Given the description of an element on the screen output the (x, y) to click on. 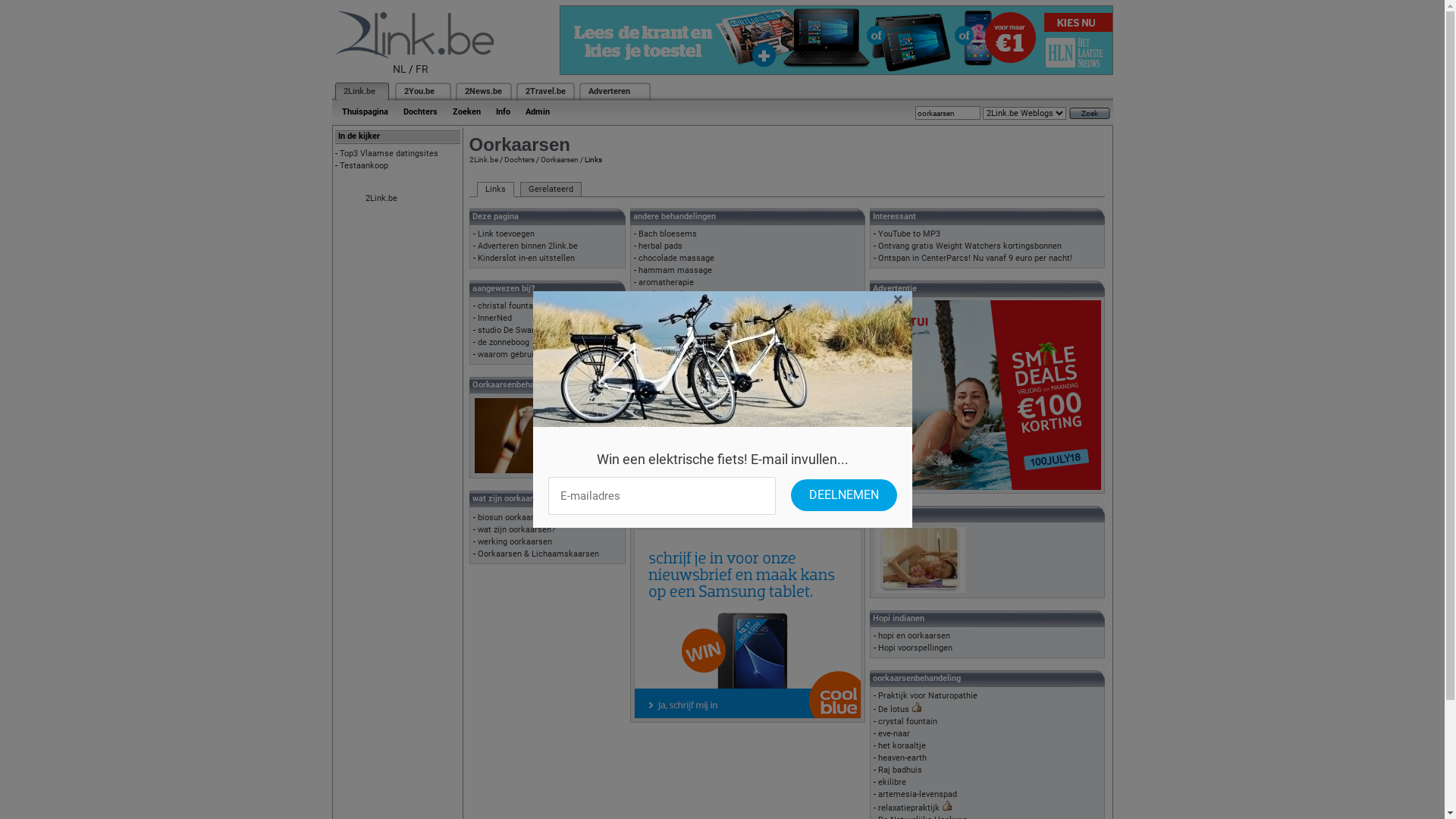
studio De Swan Element type: text (506, 330)
Top3 Vlaamse datingsites Element type: text (388, 153)
waarom gebruiken? Element type: text (514, 354)
artemesia-levenspad Element type: text (917, 794)
2Link.be Element type: text (482, 159)
NL Element type: text (399, 68)
Hopi voorspellingen Element type: text (915, 647)
heaven-earth Element type: text (902, 757)
Chakra healing Element type: text (666, 294)
herbal pads Element type: text (660, 246)
hammam massage Element type: text (675, 270)
reiki Element type: text (646, 306)
christal fountain Element type: text (508, 305)
wat zijn oorkaarsen? Element type: text (516, 529)
ekilibre Element type: text (892, 782)
Adverteren Element type: text (609, 91)
2Travel.be Element type: text (544, 91)
legende Element type: text (653, 475)
2Link.be Element type: text (358, 91)
Raj badhuis Element type: text (900, 770)
de zonneboog Element type: text (503, 342)
Kinderslot in-en uitstellen Element type: text (525, 258)
Bach bloesems Element type: text (667, 233)
InnerNed Element type: text (494, 318)
Links Element type: text (494, 189)
Ontspan in CenterParcs! Nu vanaf 9 euro per nacht! Element type: text (975, 258)
chocolade massage Element type: text (676, 258)
Massage & GezondheidsOase Element type: text (694, 354)
Oorkaarsen Element type: text (558, 159)
Thuispagina Element type: text (364, 111)
De lotus Element type: text (893, 709)
aromatherapie Element type: text (665, 282)
Zoeken Element type: text (465, 111)
ontstaan Element type: text (654, 487)
Testaankoop Element type: text (363, 165)
hopi en oorkaarsen Element type: text (914, 635)
ADP Element type: text (646, 402)
biosun oorkaarsen Element type: text (512, 517)
Adverteren binnen 2link.be Element type: text (527, 246)
Admin Element type: text (536, 111)
werking oorkaarsen Element type: text (514, 541)
2News.be Element type: text (482, 91)
FR Element type: text (421, 68)
YouTube to MP3 Element type: text (909, 233)
crystal fountain Element type: text (907, 721)
Dochters Element type: text (518, 159)
Gerelateerd Element type: text (550, 189)
2Link.be Element type: text (381, 198)
relaxatiepraktijk Element type: text (908, 807)
2You.be Element type: text (418, 91)
Dochters Element type: text (420, 111)
Info Element type: text (502, 111)
Oorkaarsen & Lichaamskaarsen Element type: text (538, 553)
Ontvang gratis Weight Watchers kortingsbonnen Element type: text (969, 246)
Praktijk voor Naturopathie Element type: text (927, 695)
Zoek Element type: text (1089, 113)
Natura Element type: text (651, 378)
eve-naar Element type: text (894, 733)
het koraaltje Element type: text (901, 745)
biosun Element type: text (650, 366)
Link toevoegen Element type: text (505, 233)
bogytanya Element type: text (657, 427)
